Given the description of an element on the screen output the (x, y) to click on. 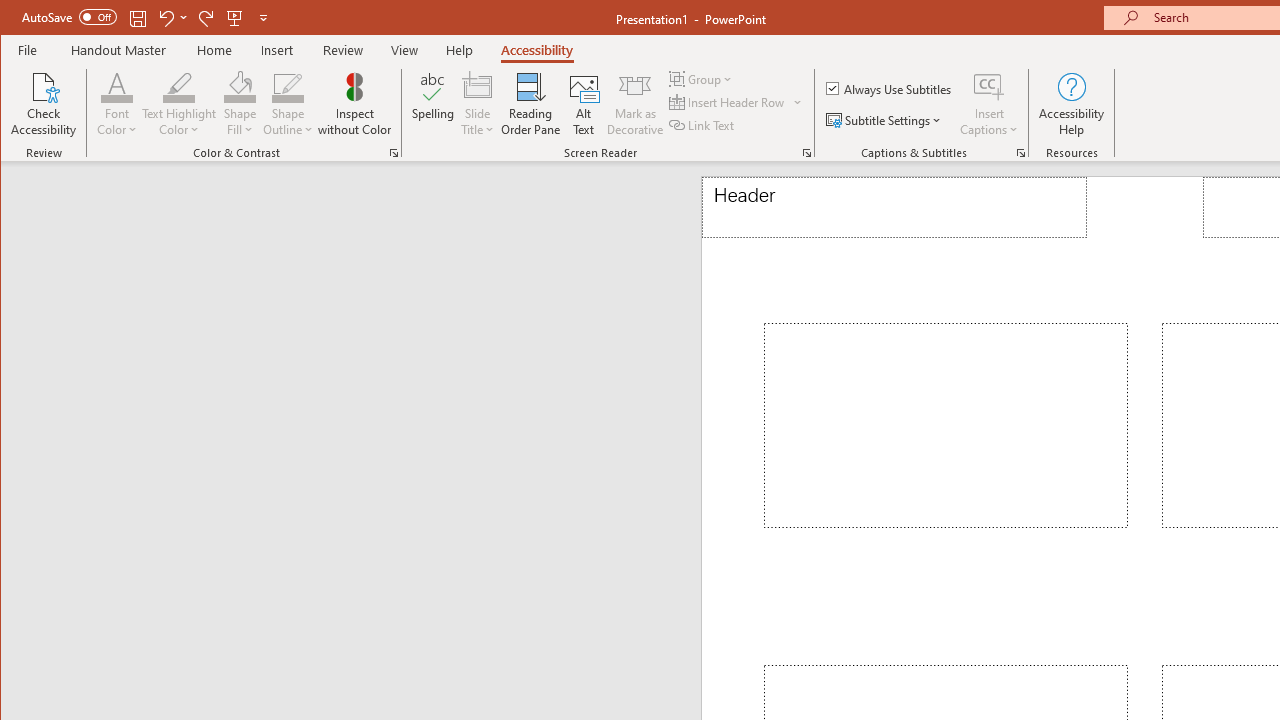
Link Text (703, 124)
